Given the description of an element on the screen output the (x, y) to click on. 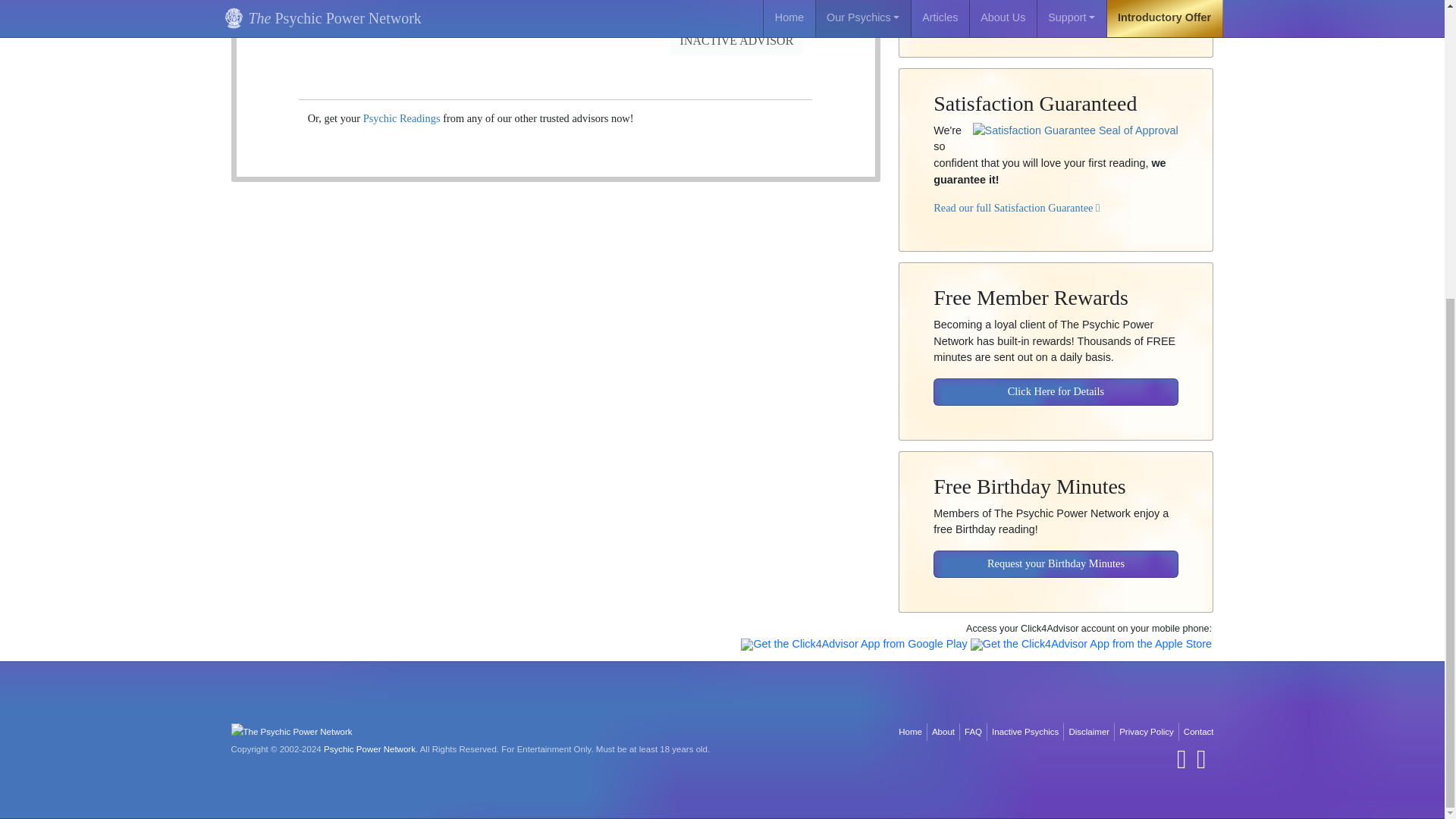
Home (909, 732)
Psychic Readings (401, 118)
